Given the description of an element on the screen output the (x, y) to click on. 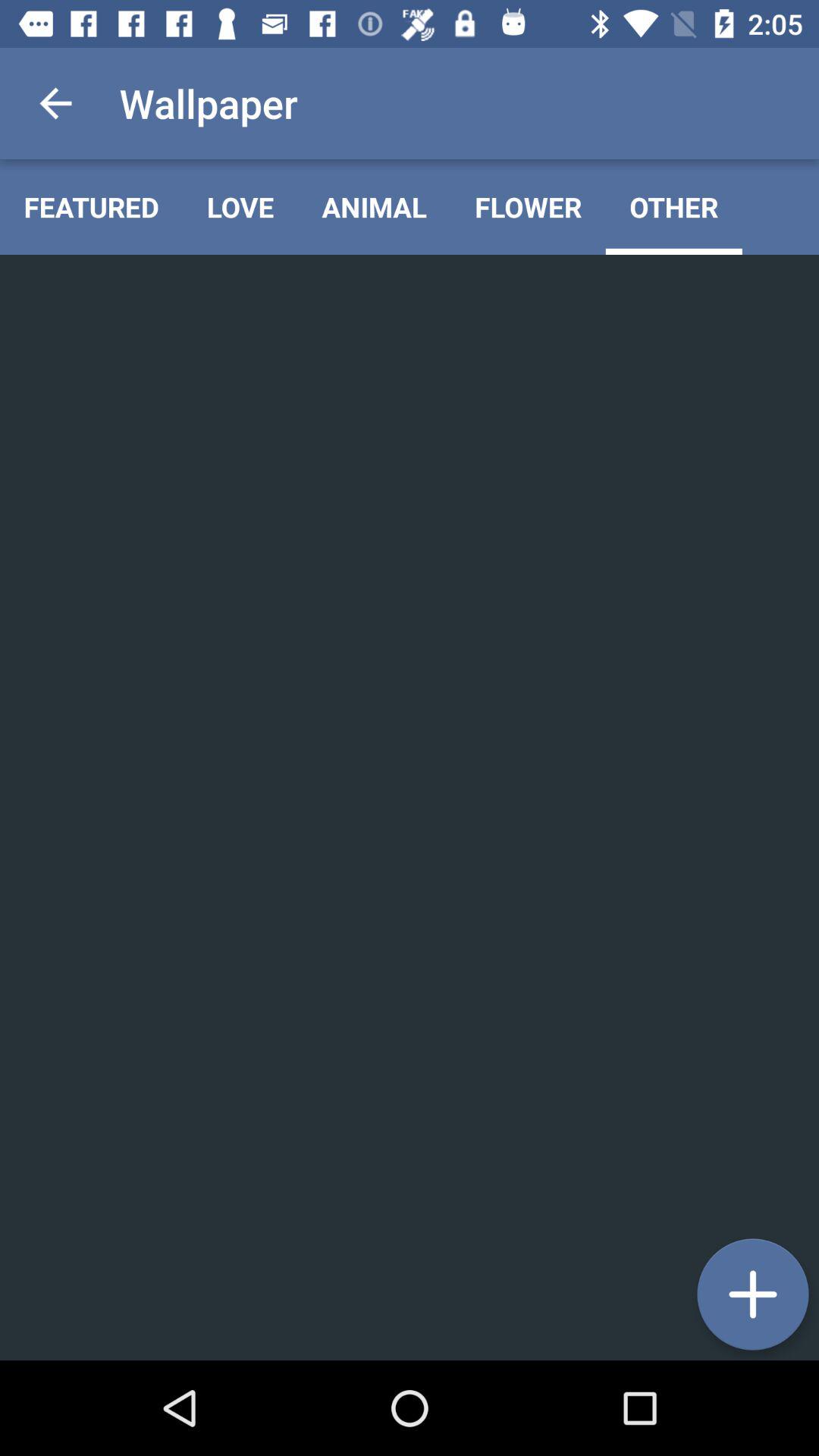
open item to the left of wallpaper app (55, 103)
